Given the description of an element on the screen output the (x, y) to click on. 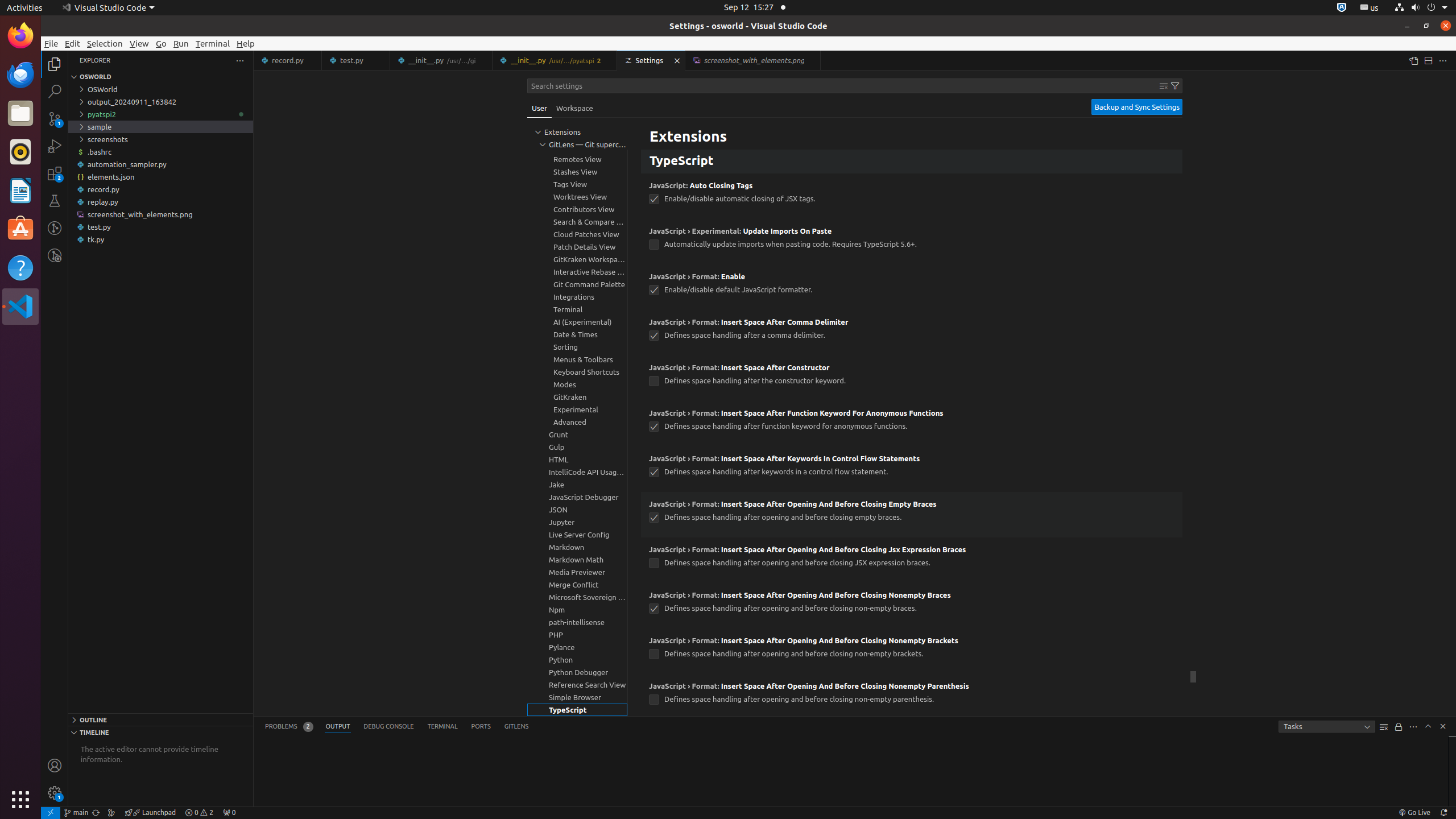
Outline Section Element type: push-button (160, 719)
Extensions (Ctrl+Shift+X) - 2 require restart Extensions (Ctrl+Shift+X) - 2 require restart Element type: page-tab (54, 173)
Jake, group Element type: tree-item (577, 484)
Active View Switcher Element type: page-tab-list (396, 726)
